Given the description of an element on the screen output the (x, y) to click on. 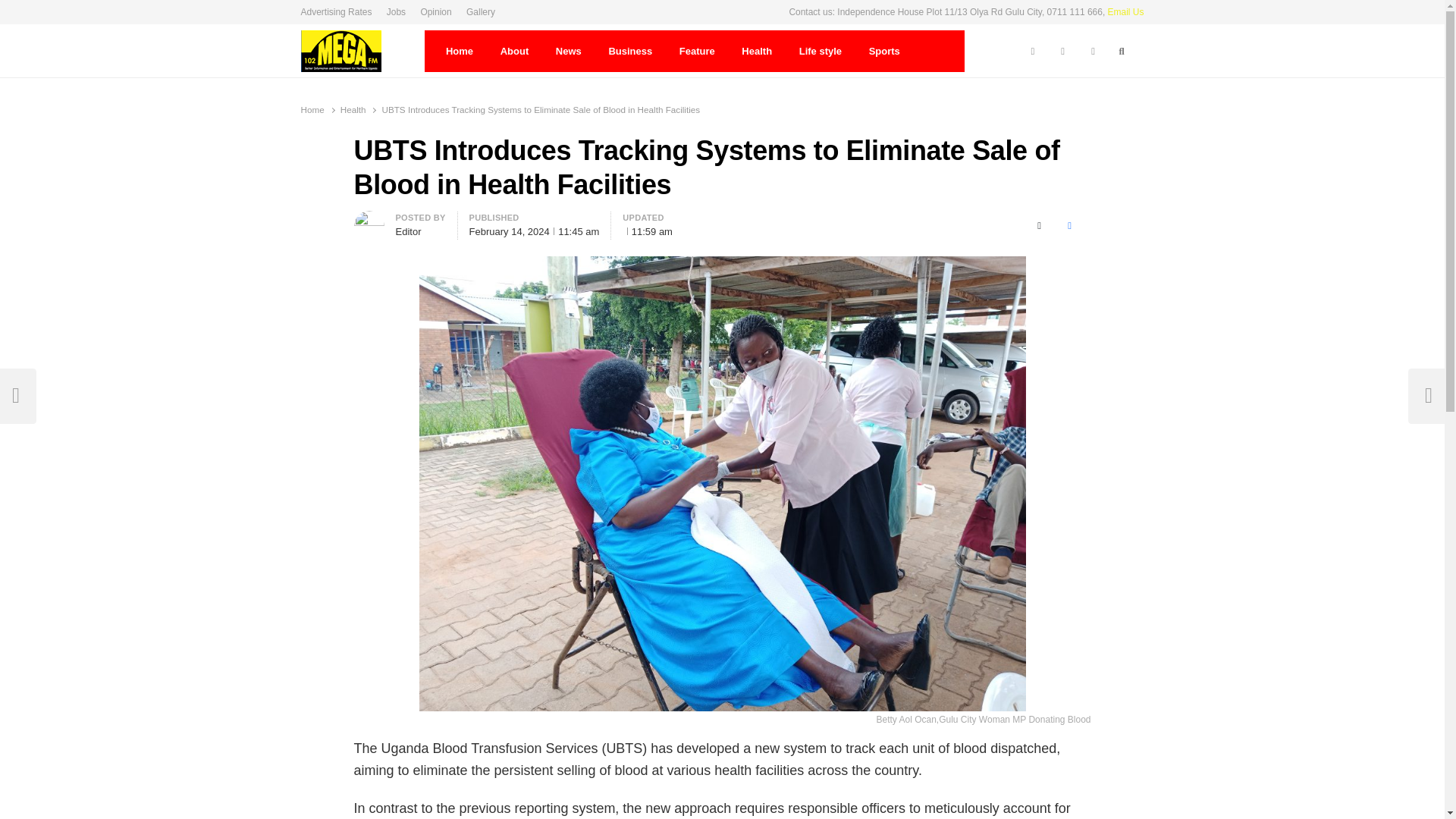
Advertising Rates (338, 12)
Gallery (480, 12)
Email Us (1126, 11)
Opinion (435, 12)
Jobs (396, 12)
Share on facebook (1069, 225)
More posts by Editor (368, 219)
About (514, 51)
News (568, 51)
Home (458, 51)
